Given the description of an element on the screen output the (x, y) to click on. 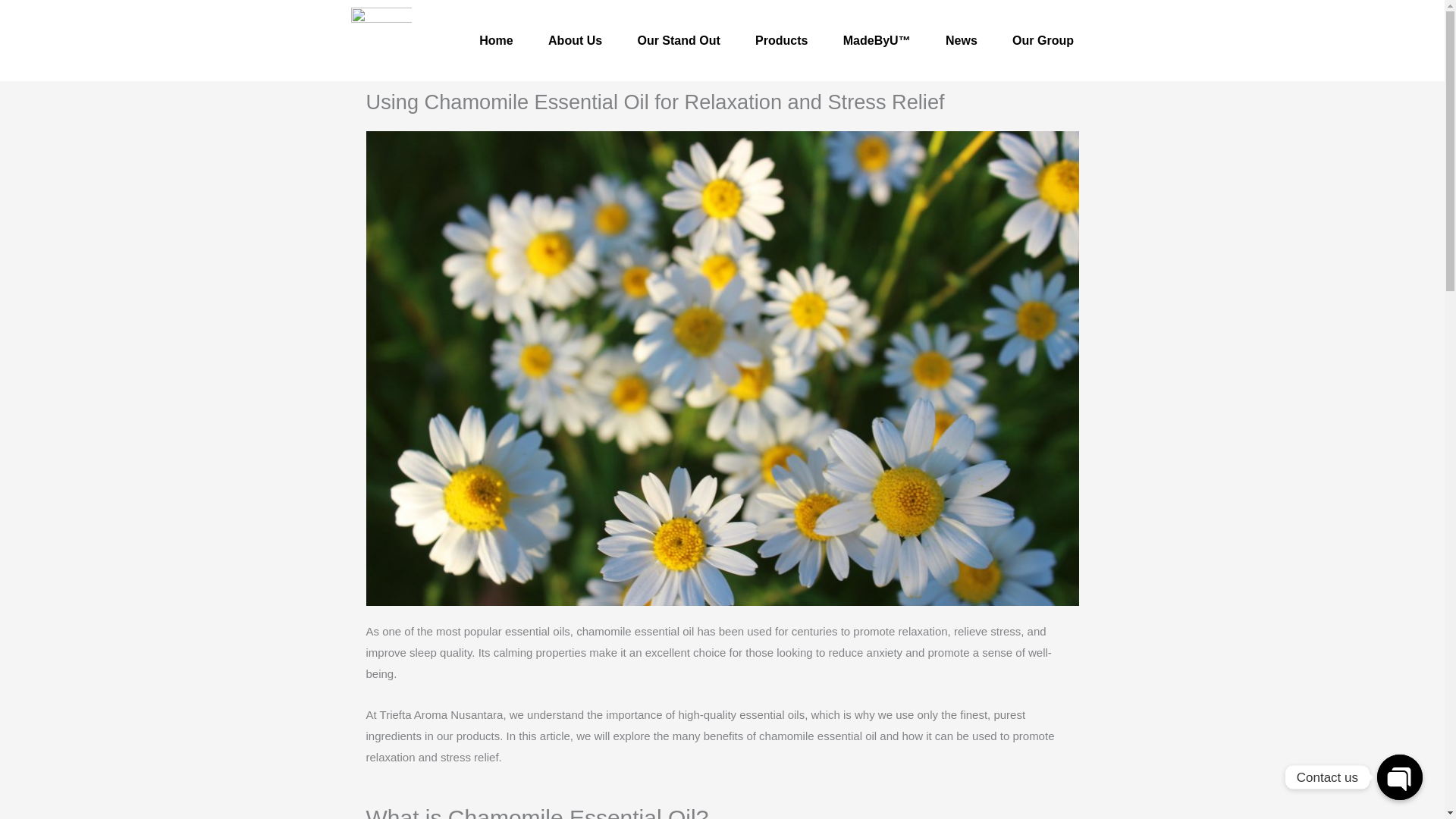
About Us (575, 40)
News (961, 40)
Home (496, 40)
Our Group (1042, 40)
Products (781, 40)
Our Stand Out (679, 40)
